Given the description of an element on the screen output the (x, y) to click on. 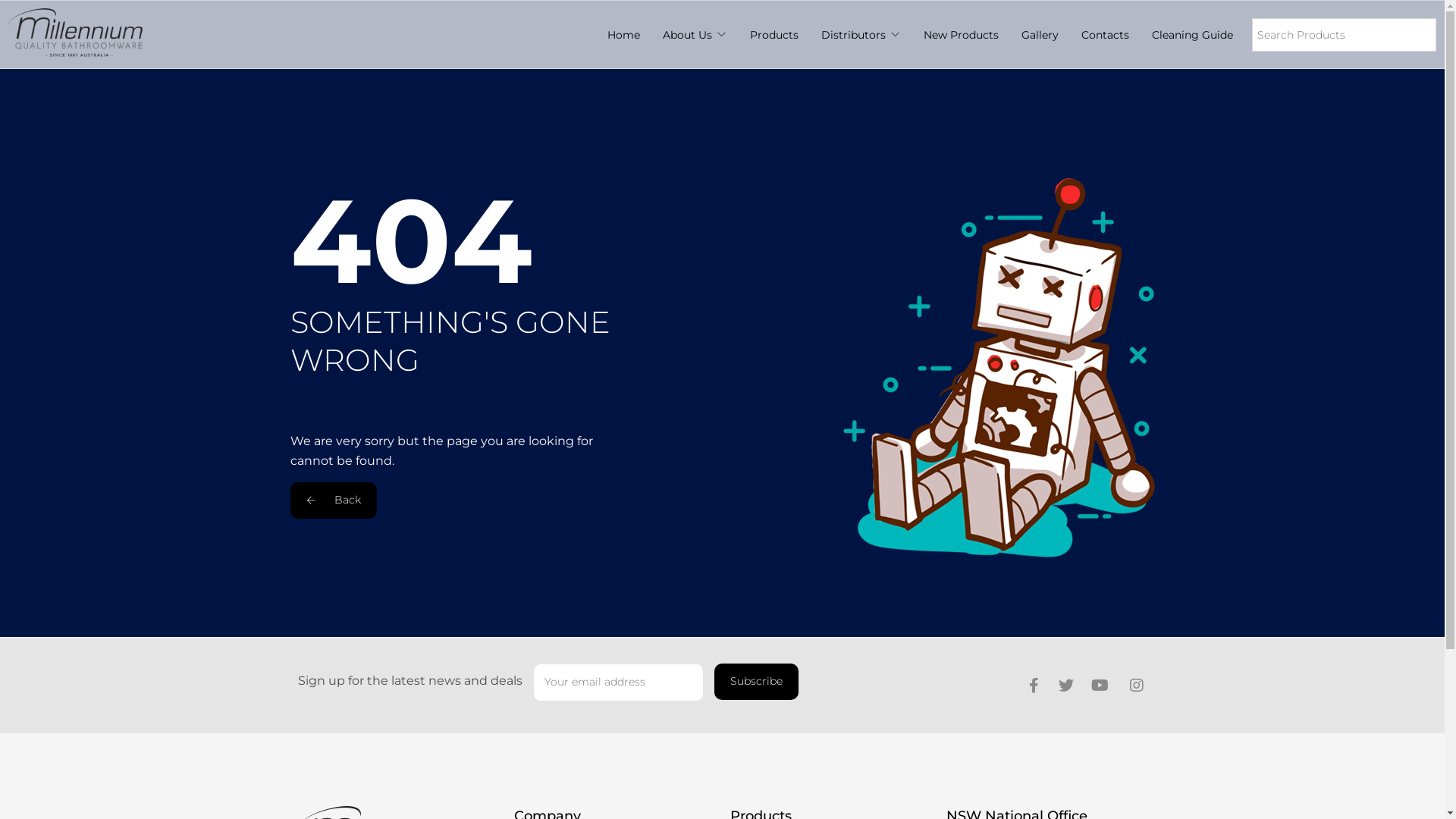
About Us Element type: text (687, 34)
Contacts Element type: text (1105, 34)
Home Element type: text (623, 34)
Cleaning Guide Element type: text (1192, 34)
Back Element type: text (332, 500)
Gallery Element type: text (1039, 34)
New Products Element type: text (960, 34)
Products Element type: text (773, 34)
Distributors Element type: text (853, 34)
Subscribe Element type: text (756, 681)
